Given the description of an element on the screen output the (x, y) to click on. 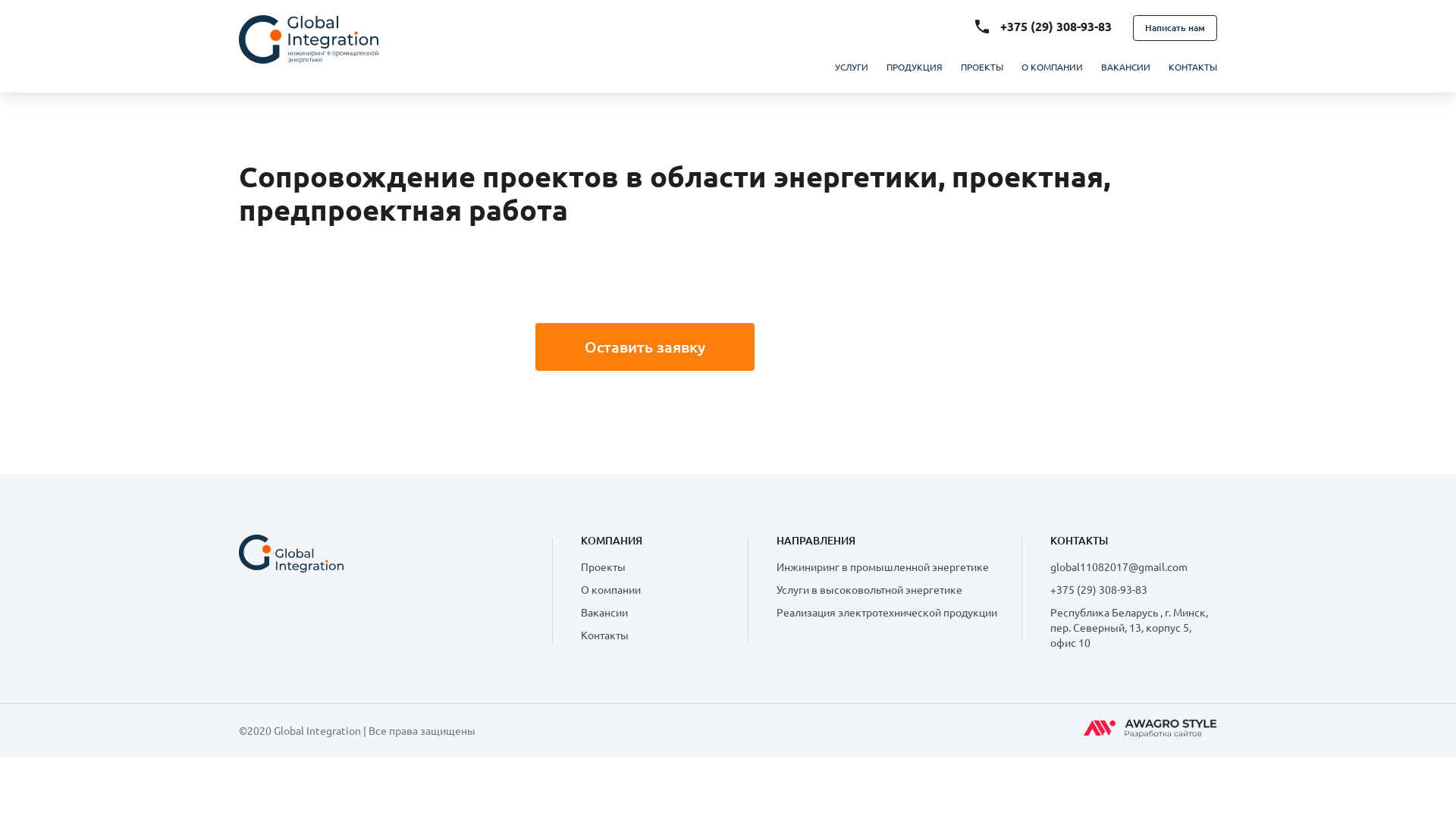
global11082017@gmail.com Element type: text (1118, 566)
+375 (29) 308-93-83 Element type: text (1098, 589)
+375 (29) 308-93-83 Element type: text (1055, 26)
